Given the description of an element on the screen output the (x, y) to click on. 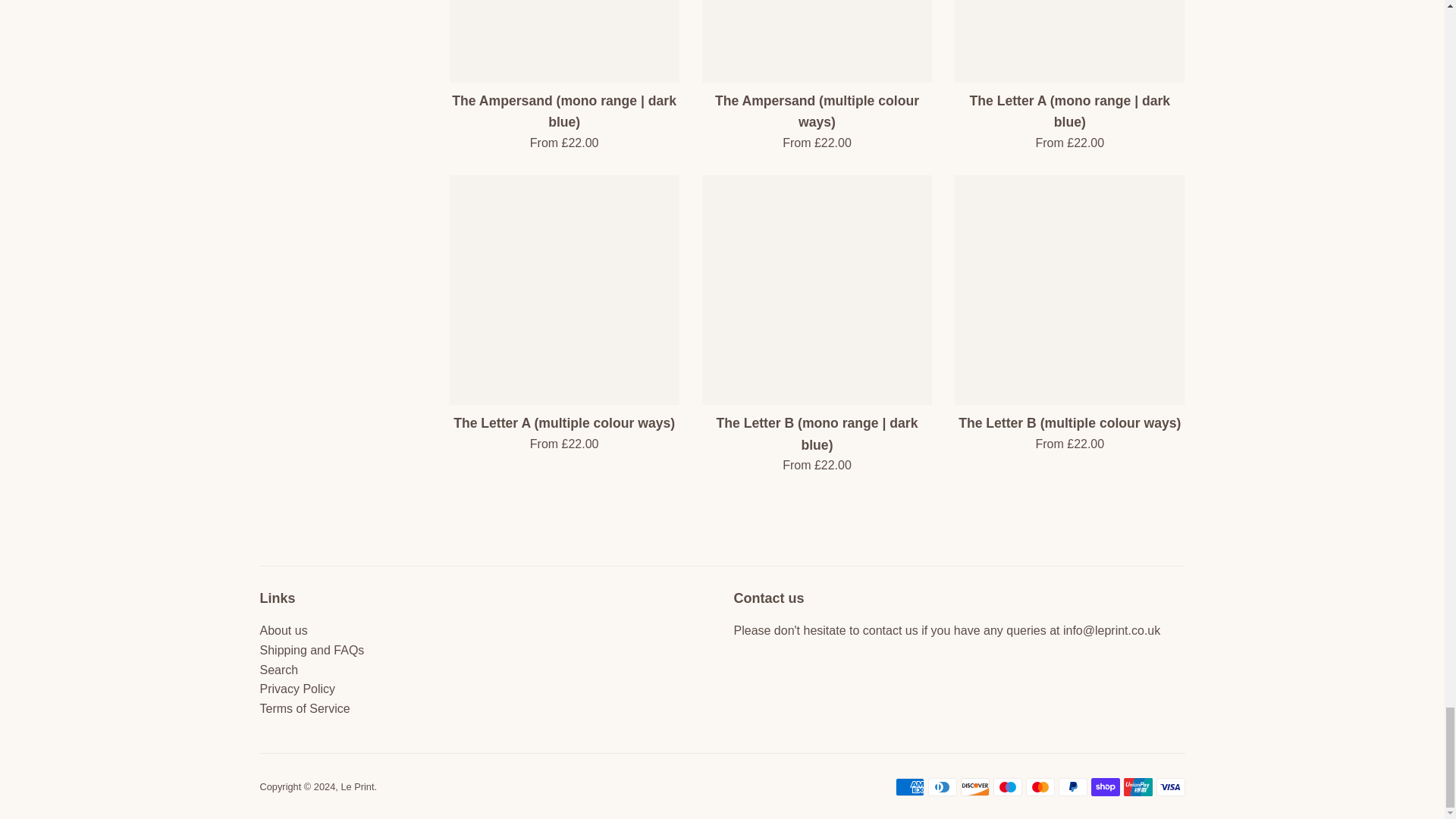
PayPal (1072, 787)
Shop Pay (1104, 787)
Mastercard (1039, 787)
Union Pay (1138, 787)
Maestro (1007, 787)
Diners Club (942, 787)
Visa (1170, 787)
Discover (973, 787)
American Express (909, 787)
